Given the description of an element on the screen output the (x, y) to click on. 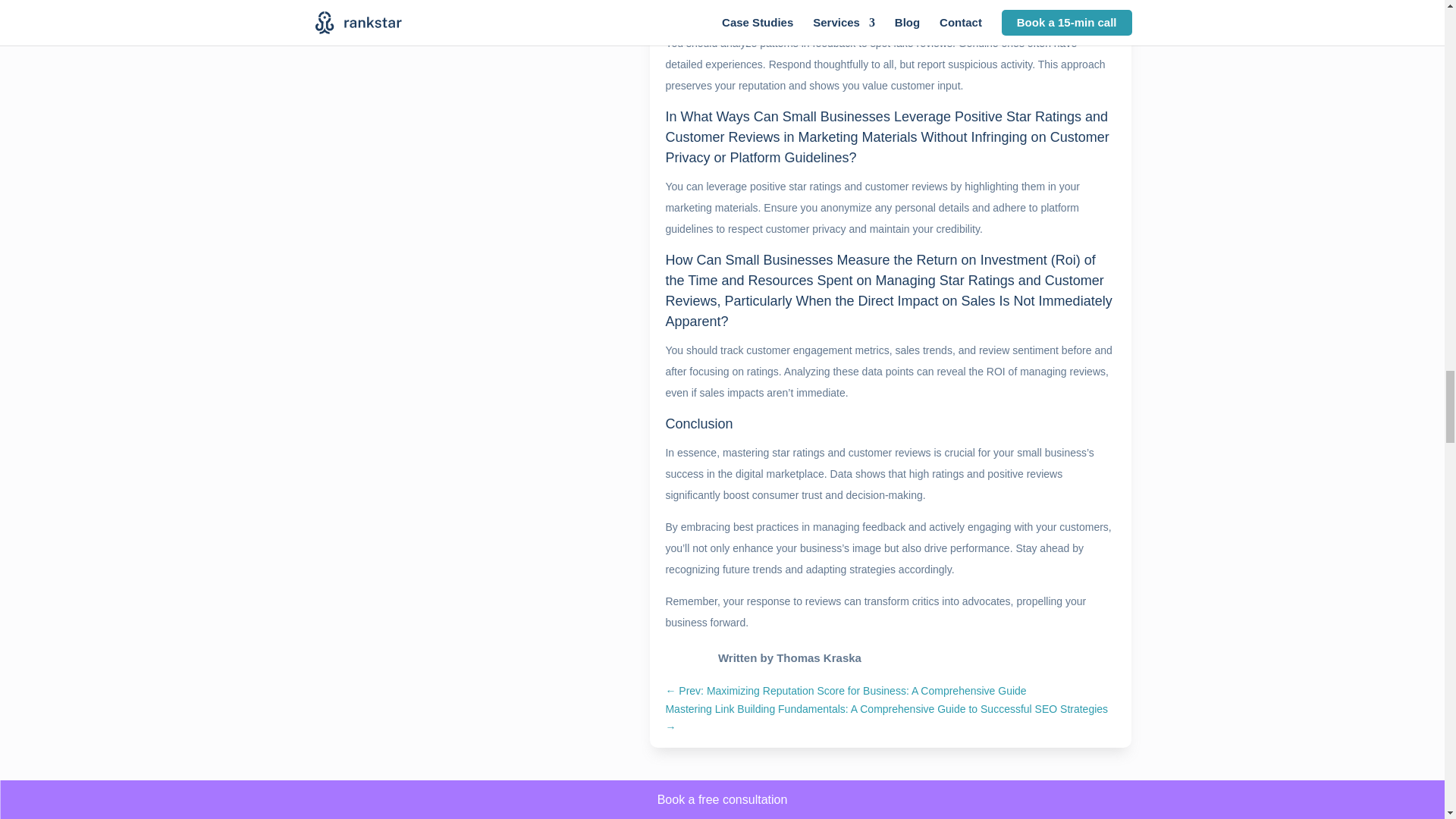
Thomas Kraska (818, 657)
